Given the description of an element on the screen output the (x, y) to click on. 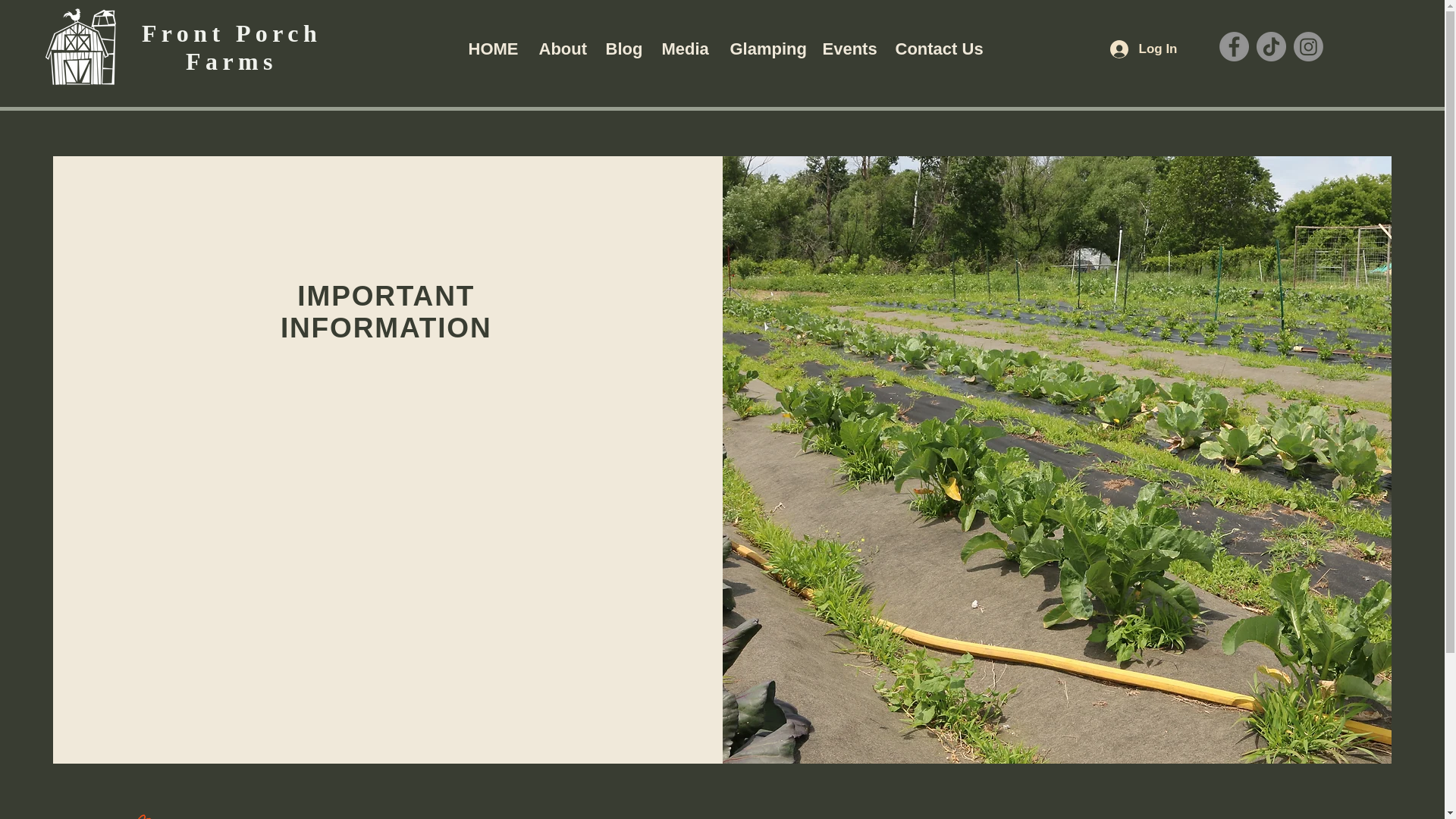
Events (846, 48)
HOME (492, 48)
Contact Us (935, 48)
About (560, 48)
Glamping (764, 48)
Log In (1142, 49)
